Given the description of an element on the screen output the (x, y) to click on. 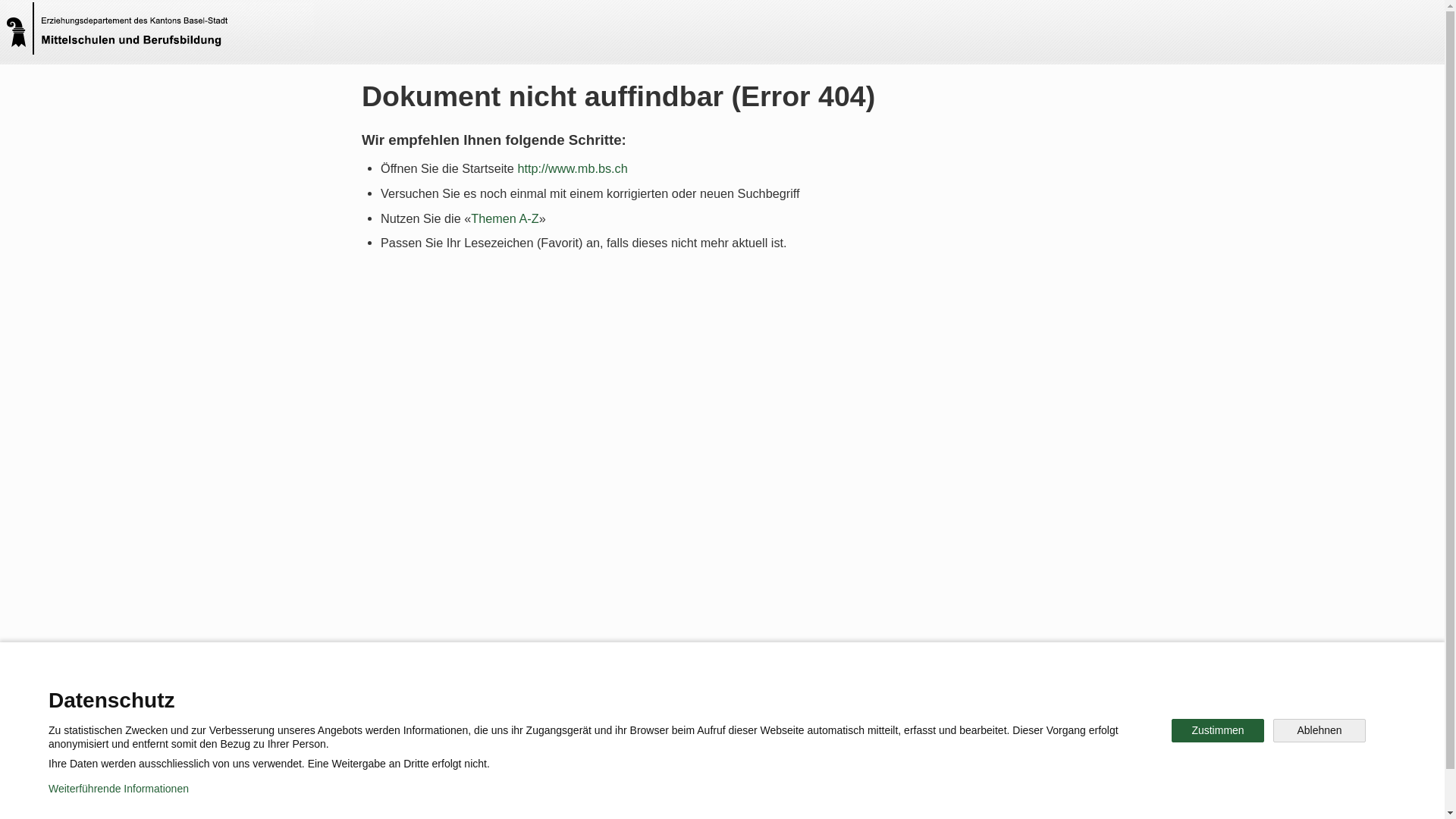
Zustimmen Element type: text (1217, 730)
http://www.mb.bs.ch Element type: text (572, 168)
Zur mobilen Ansicht Element type: text (752, 796)
Impressum Element type: text (648, 796)
Themen A-Z Element type: text (504, 217)
Nutzungsregelungen Element type: text (542, 796)
Ablehnen Element type: text (1319, 730)
